Given the description of an element on the screen output the (x, y) to click on. 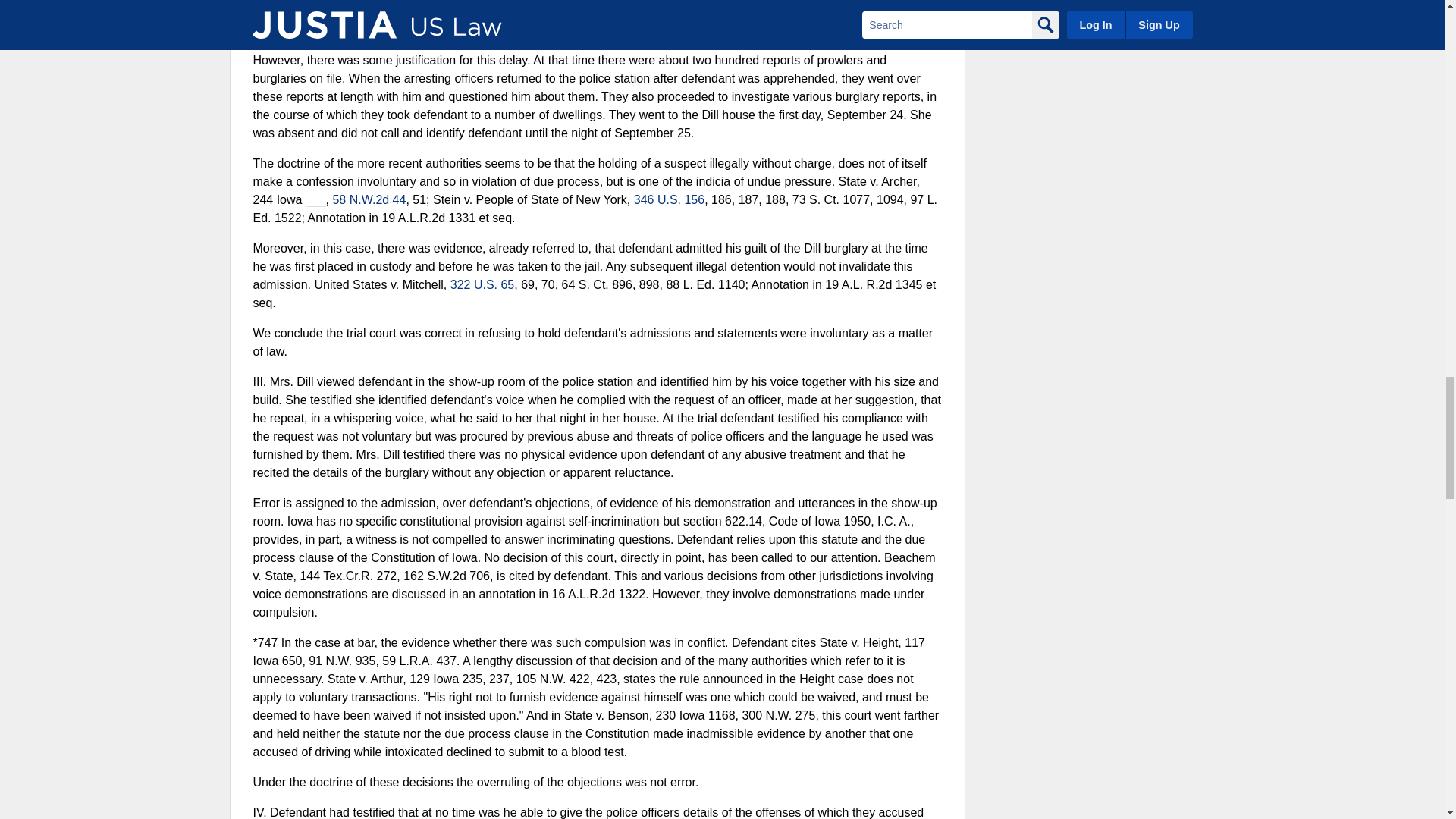
322 U.S. 65 (482, 284)
346 U.S. 156 (668, 199)
58 N.W.2d 44 (368, 199)
